Given the description of an element on the screen output the (x, y) to click on. 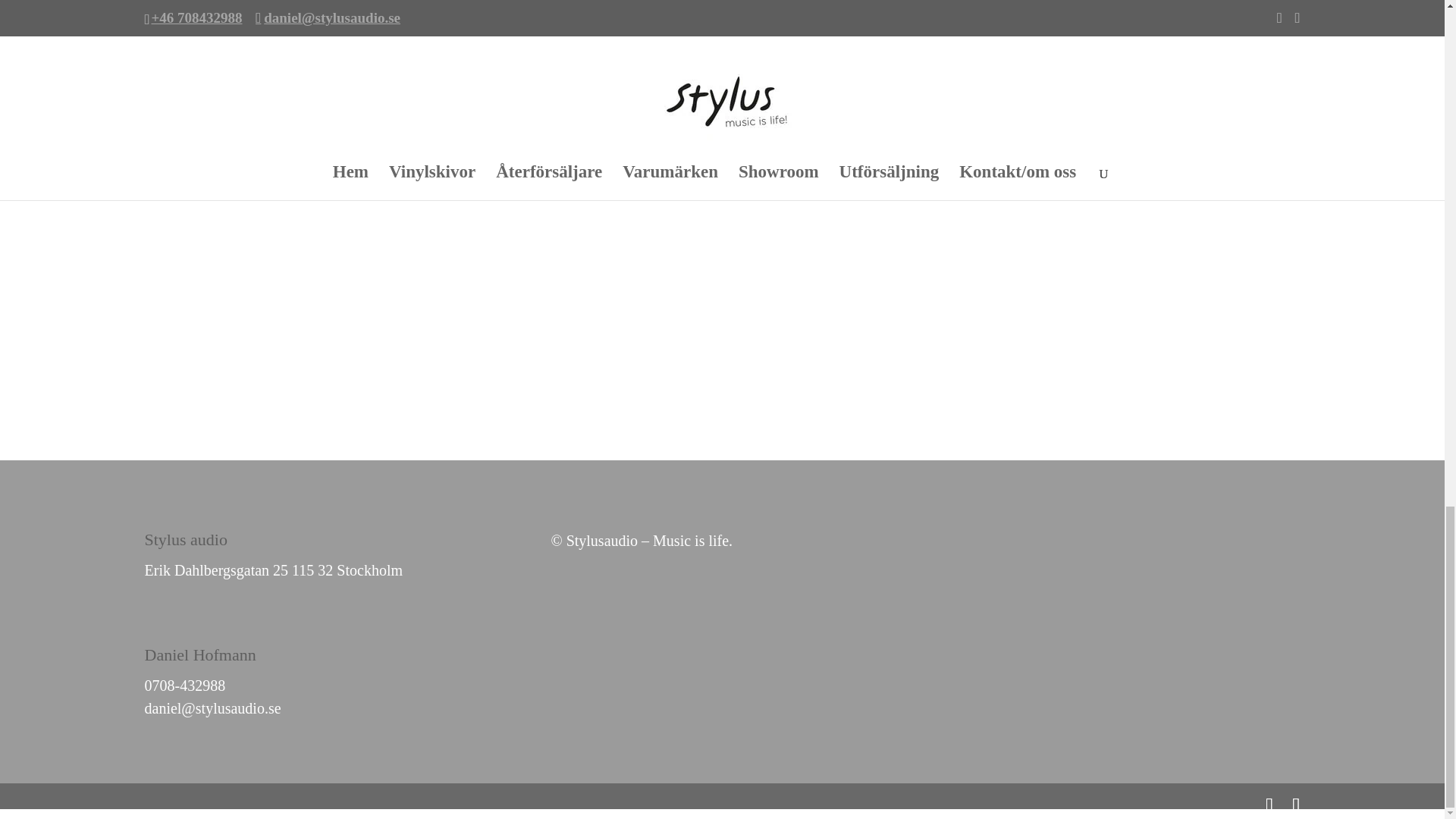
ramar-record-brush-tina-etui (417, 17)
